Given the description of an element on the screen output the (x, y) to click on. 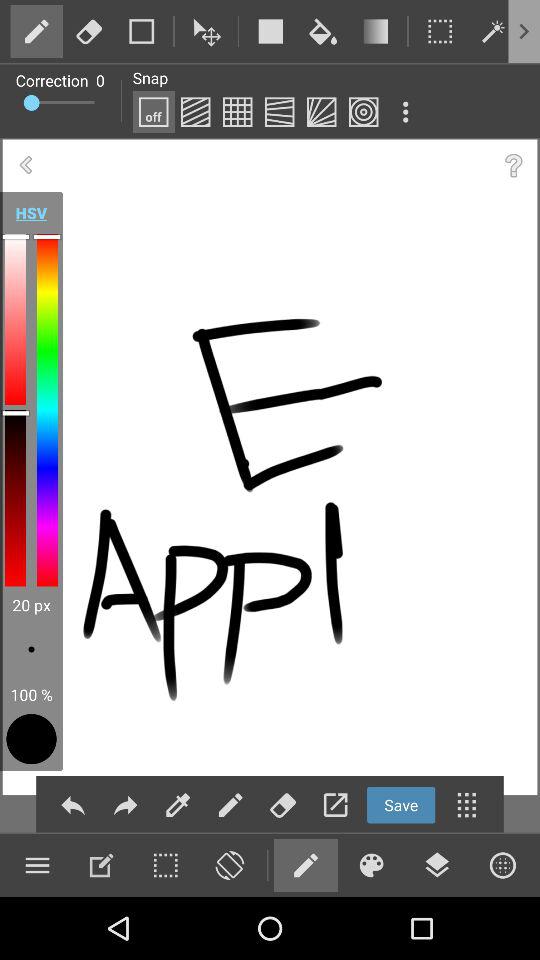
use rubber feature (89, 31)
